Given the description of an element on the screen output the (x, y) to click on. 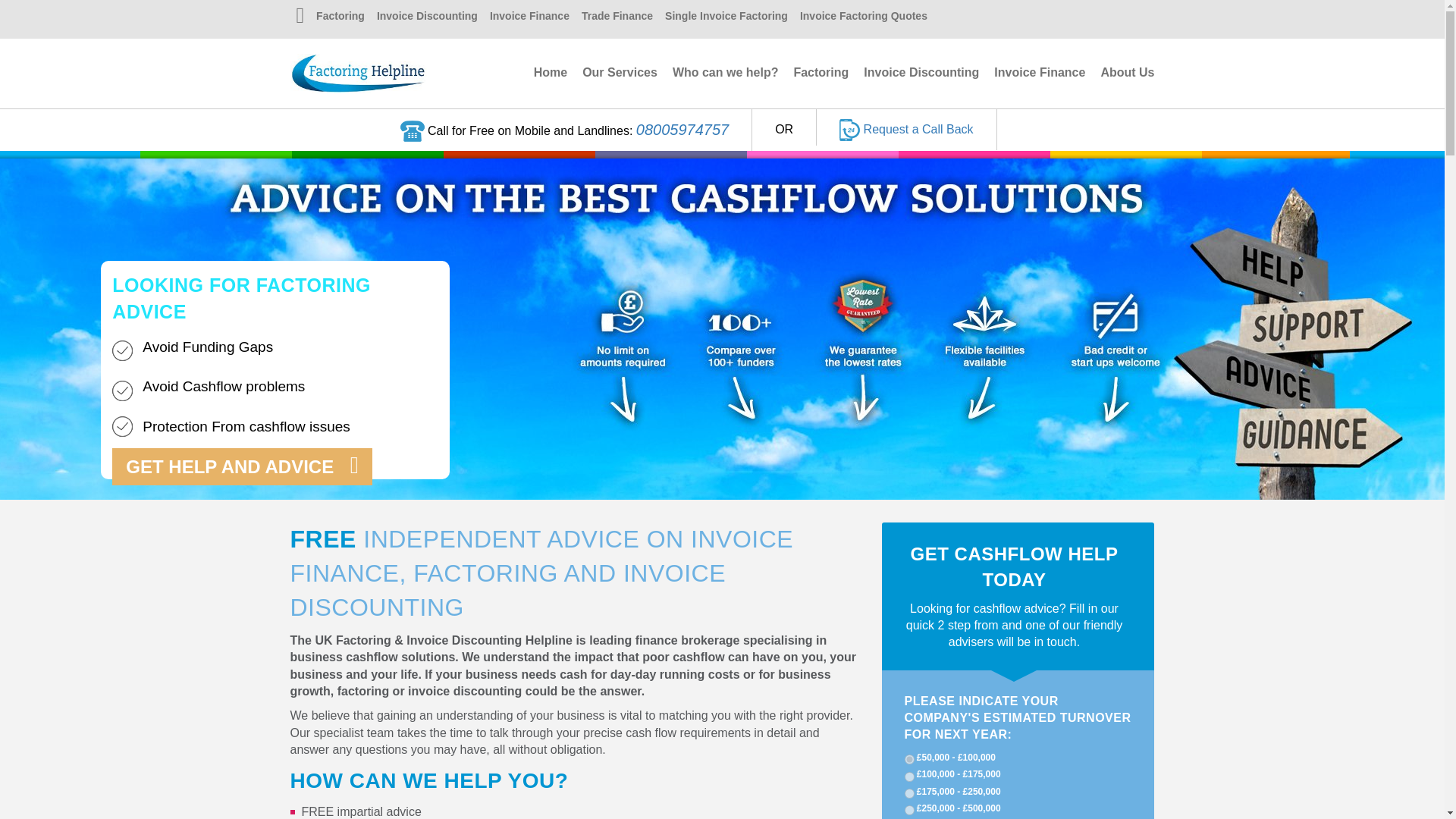
Factoring (340, 16)
Invoice Finance (1039, 72)
Factoring (820, 72)
4 (909, 809)
2 (909, 777)
Invoice Factoring Quotes (863, 16)
Our Services (620, 72)
Single Invoice Factoring (726, 16)
3 (909, 793)
Trade Finance (616, 16)
